Given the description of an element on the screen output the (x, y) to click on. 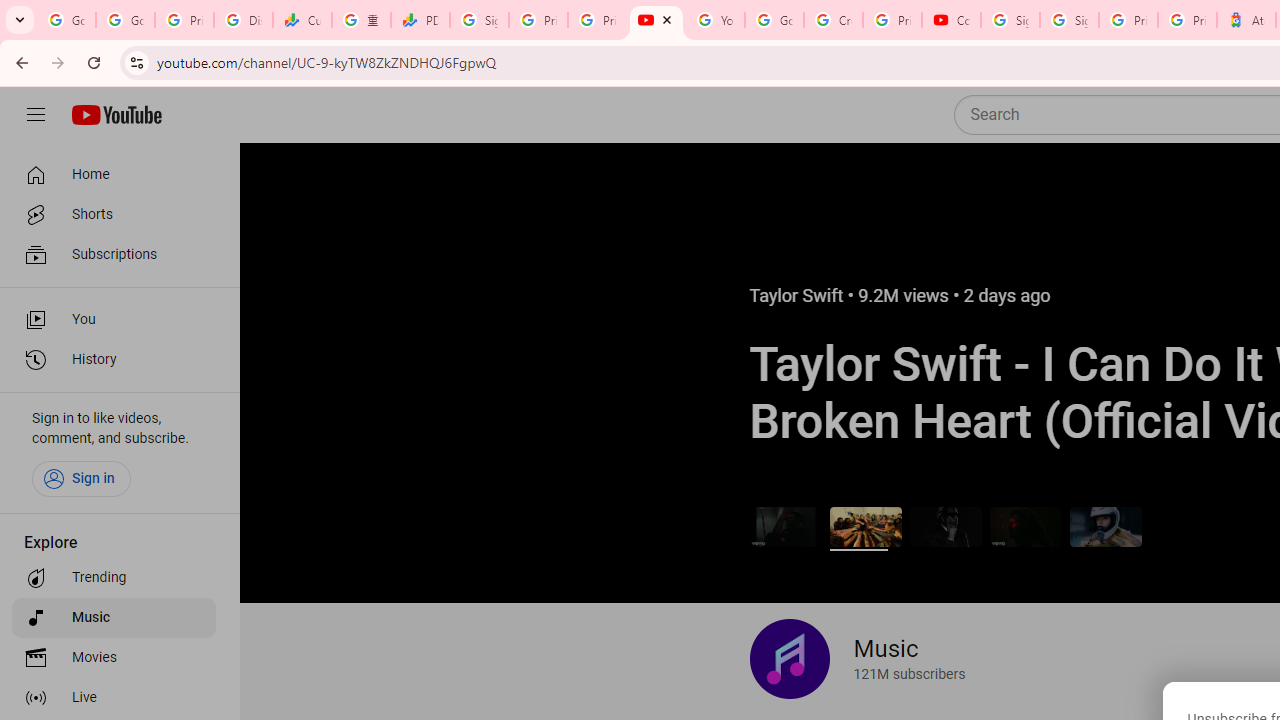
Hozier - Nobody's Soldier (Official Video) (1025, 526)
Sign in - Google Accounts (479, 20)
Google Account Help (774, 20)
YouTube (715, 20)
YouTube Home (116, 115)
History (113, 359)
Music 121 million subscribers (857, 659)
Subscriptions (113, 254)
Music (113, 617)
